Given the description of an element on the screen output the (x, y) to click on. 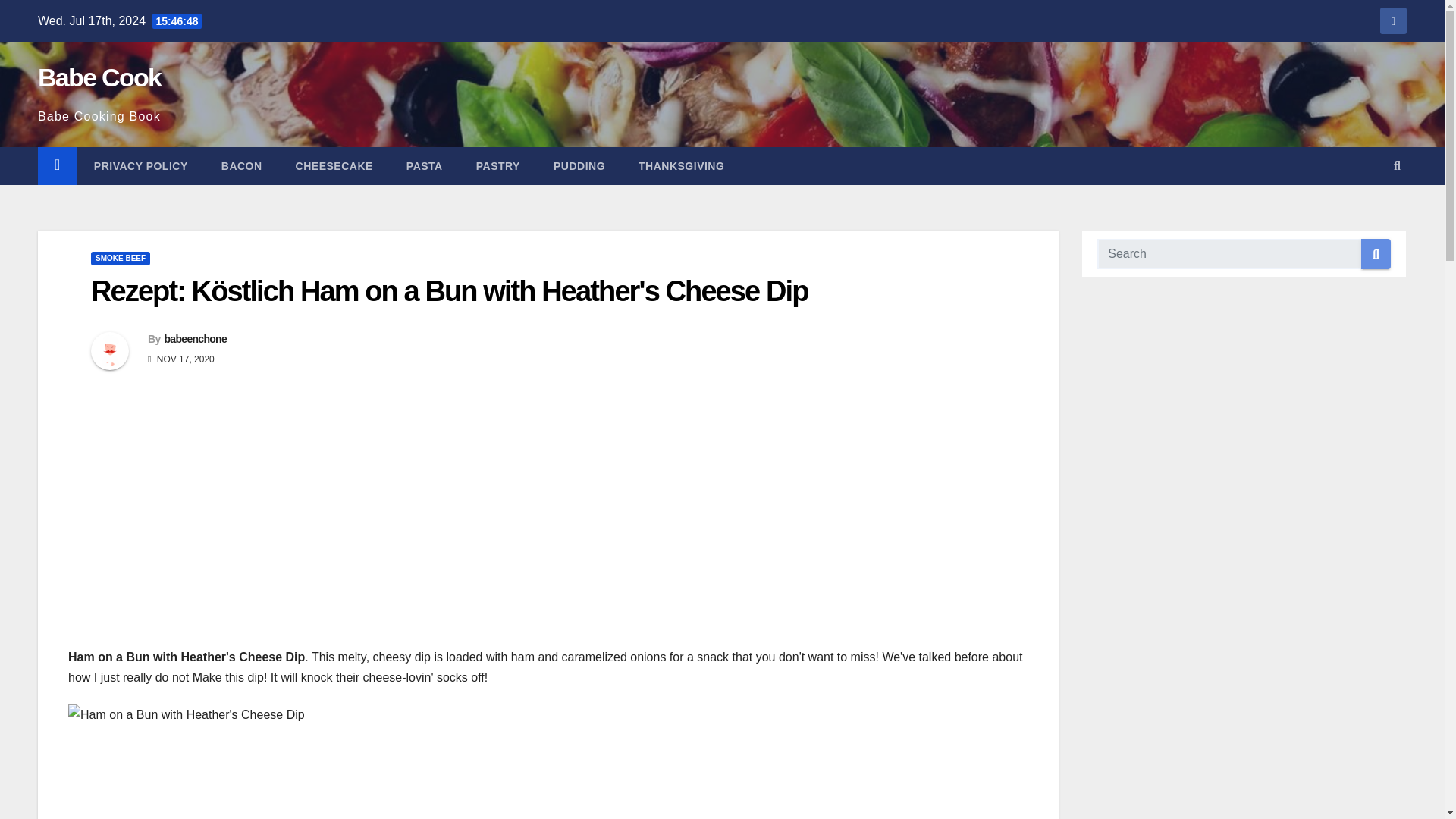
SMOKE BEEF (119, 258)
Privacy Policy (141, 166)
Pudding (579, 166)
Babe Cook (98, 77)
Advertisement (548, 779)
Pasta (425, 166)
PASTRY (498, 166)
Pastry (498, 166)
BACON (242, 166)
CHEESECAKE (334, 166)
babeenchone (195, 338)
Thanksgiving (681, 166)
Bacon (242, 166)
PUDDING (579, 166)
